Given the description of an element on the screen output the (x, y) to click on. 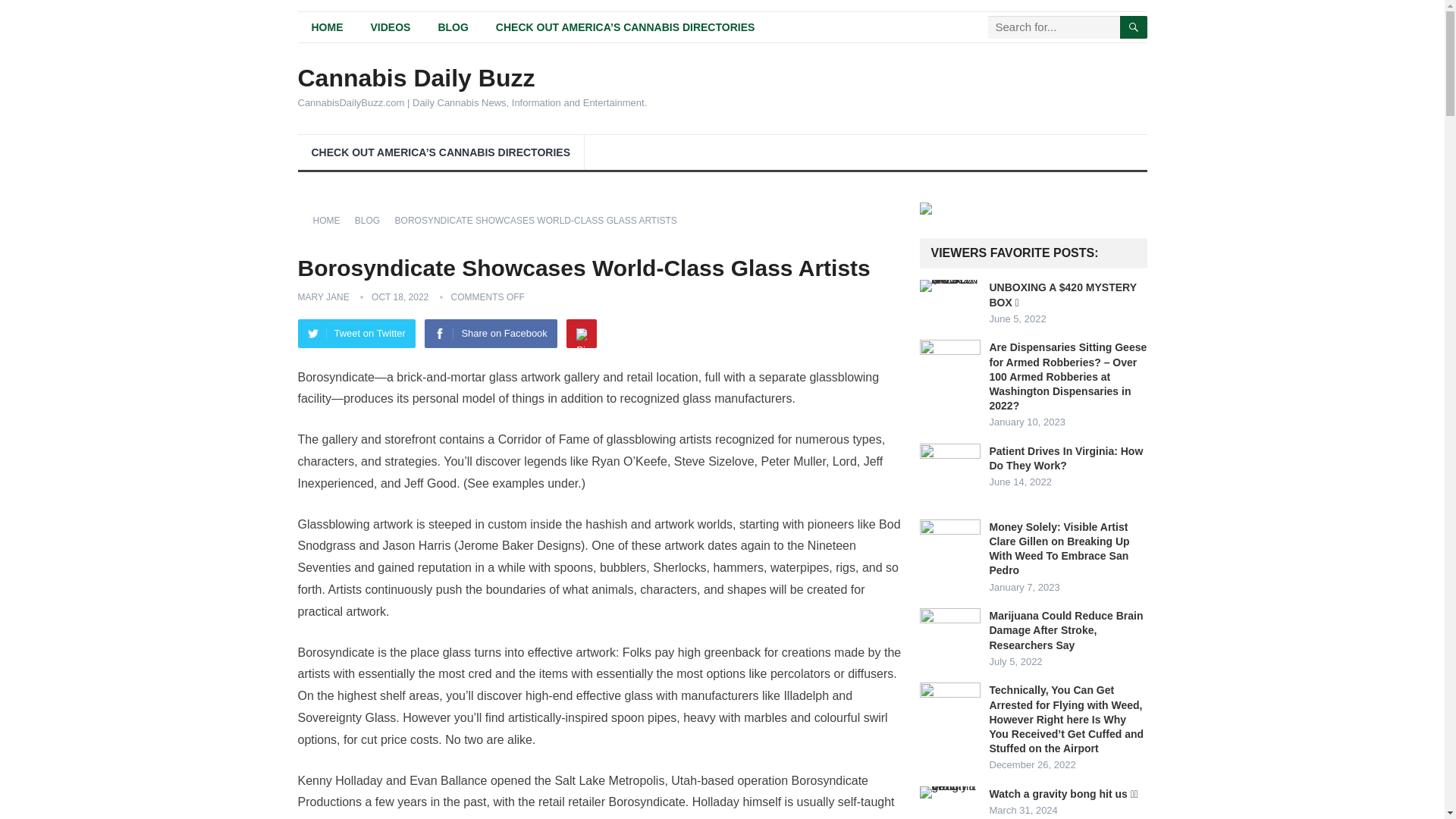
MARY JANE (323, 296)
BLOG (452, 27)
HOME (331, 220)
Share on Facebook (490, 333)
Cannabis Daily Buzz (471, 78)
Tweet on Twitter (355, 333)
VIDEOS (389, 27)
BLOG (372, 220)
HOME (326, 27)
Posts by Mary Jane (323, 296)
View all posts in Blog (372, 220)
Pinterest (581, 333)
